Given the description of an element on the screen output the (x, y) to click on. 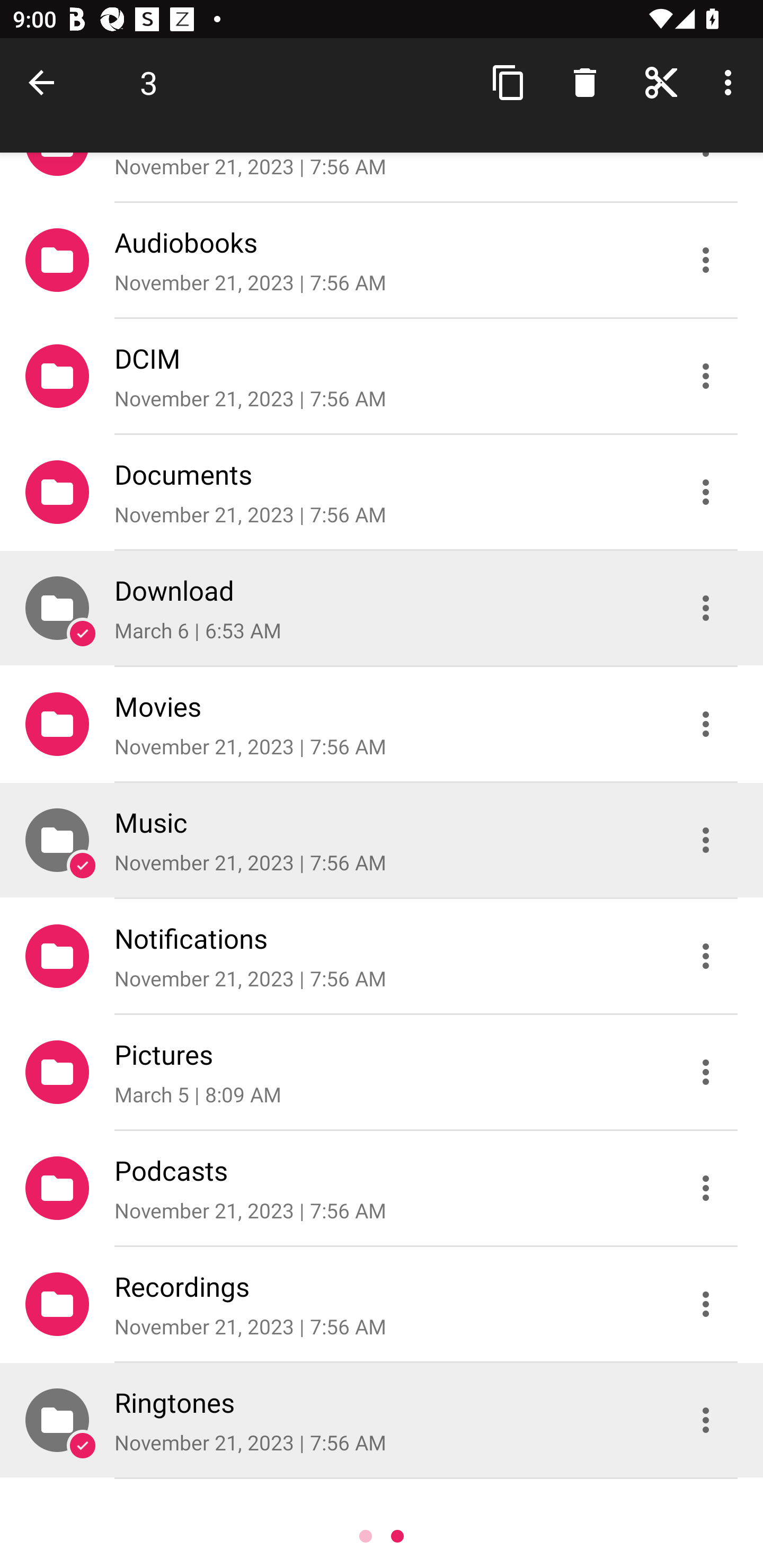
3 (148, 82)
Done (44, 81)
Copy (508, 81)
Delete (585, 81)
Cut (661, 81)
More options (731, 81)
Audiobooks November 21, 2023 | 7:56 AM (381, 259)
DCIM November 21, 2023 | 7:56 AM (381, 375)
Documents November 21, 2023 | 7:56 AM (381, 491)
Download March 6 | 6:53 AM (381, 607)
Movies November 21, 2023 | 7:56 AM (381, 723)
Music November 21, 2023 | 7:56 AM (381, 839)
Notifications November 21, 2023 | 7:56 AM (381, 955)
Pictures March 5 | 8:09 AM (381, 1071)
Podcasts November 21, 2023 | 7:56 AM (381, 1187)
Recordings November 21, 2023 | 7:56 AM (381, 1303)
Ringtones November 21, 2023 | 7:56 AM (381, 1419)
